Given the description of an element on the screen output the (x, y) to click on. 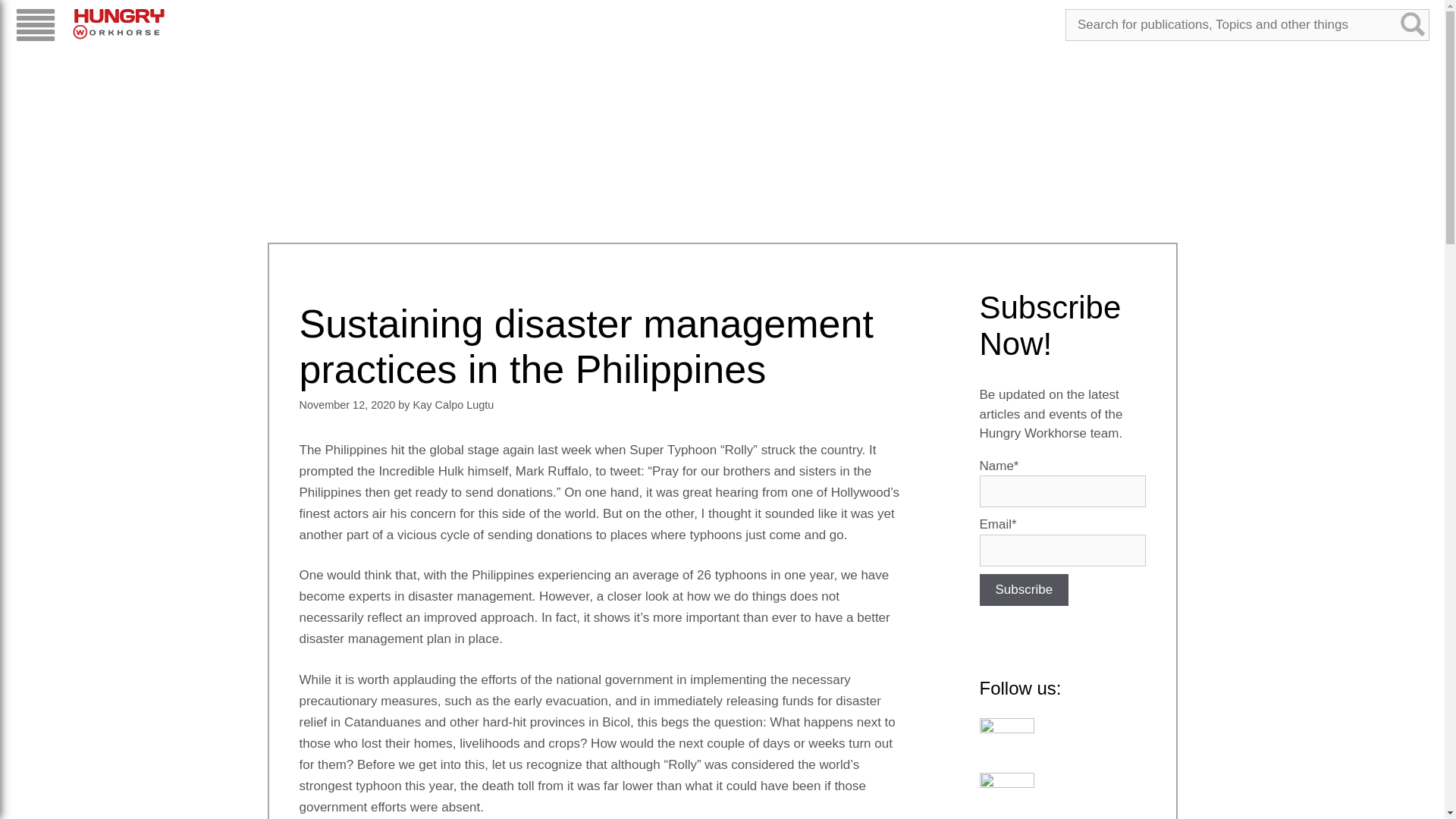
Subscribe (1023, 590)
View all posts by Kay Calpo Lugtu (454, 404)
Kay Calpo Lugtu (454, 404)
Subscribe (1023, 590)
